Given the description of an element on the screen output the (x, y) to click on. 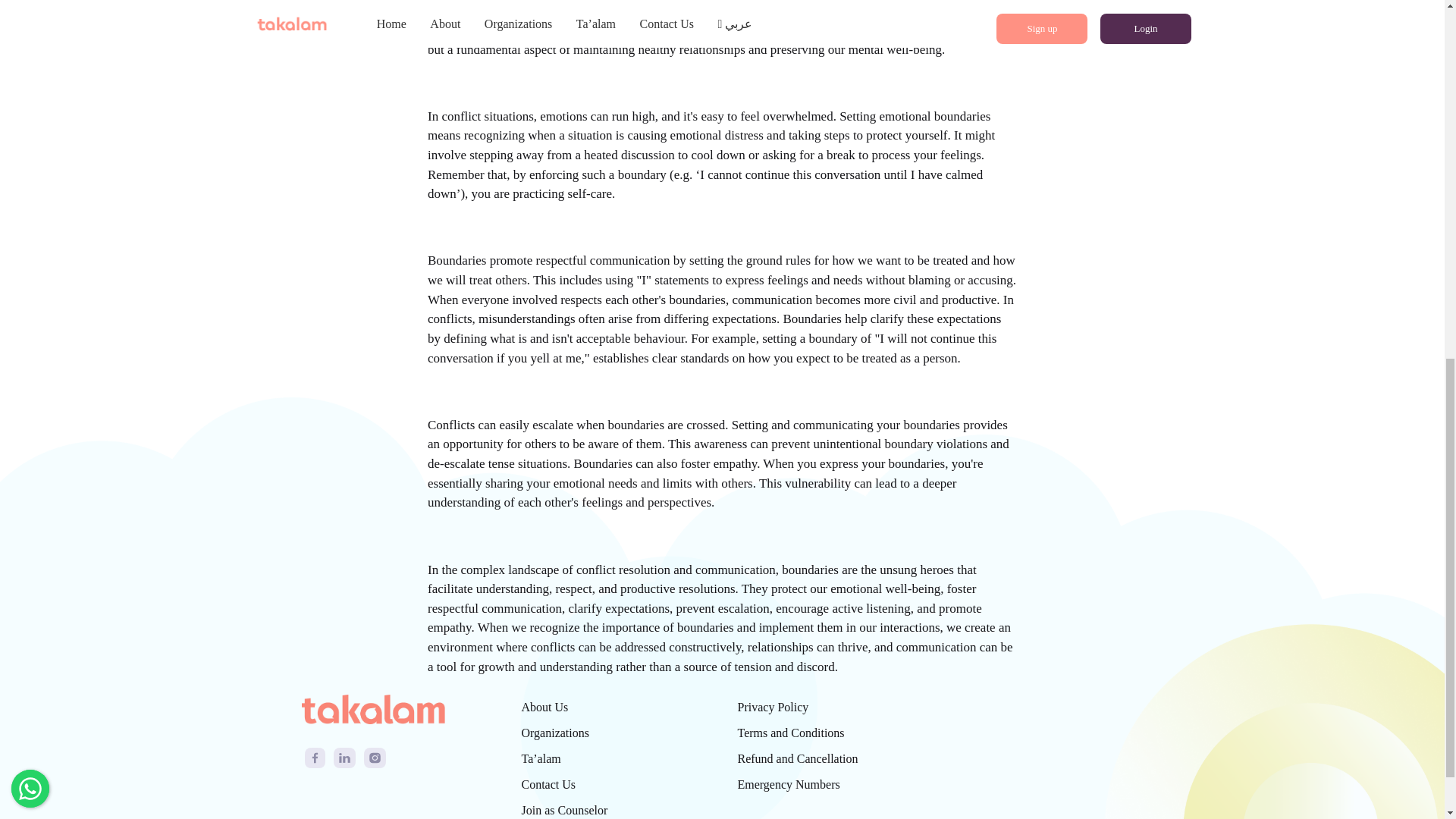
About Us (545, 707)
Join as Counselor (564, 809)
Refund and Cancellation (796, 758)
Privacy Policy (772, 707)
Organizations (555, 732)
Contact Us (548, 784)
Terms and Conditions (790, 732)
Emergency Numbers (788, 784)
